Given the description of an element on the screen output the (x, y) to click on. 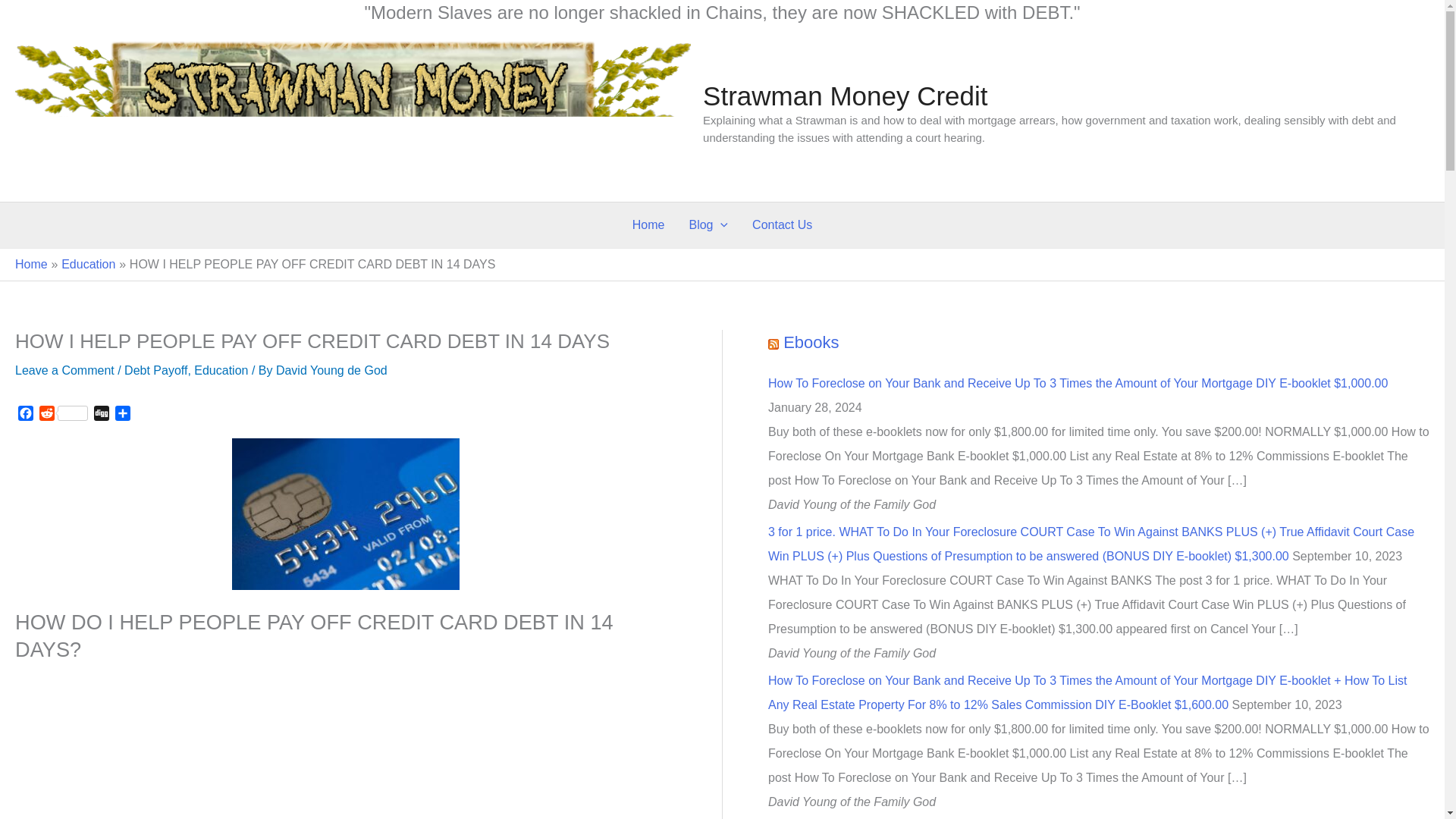
Digg (101, 415)
Education (220, 369)
Home (648, 225)
Contact Us (781, 225)
Facebook (25, 415)
Digg (101, 415)
Debt Payoff (155, 369)
Education (88, 264)
Leave a Comment (64, 369)
HOW I HELP PEOPLE PAY OFF CREDIT CARD DEBT IN 14 DAYS (345, 513)
